Given the description of an element on the screen output the (x, y) to click on. 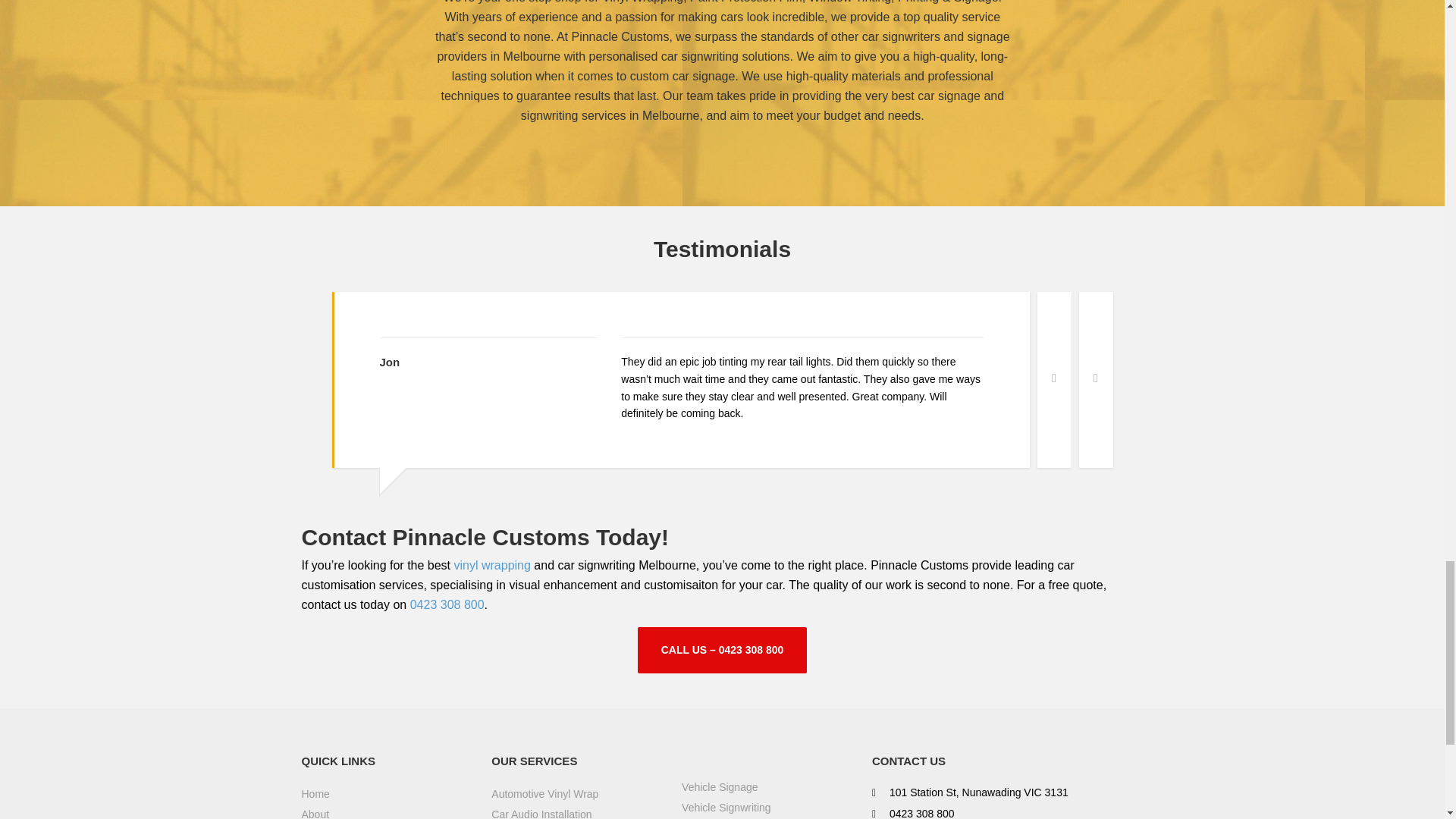
0423 308 800 (447, 604)
vinyl wrapping (490, 564)
